Given the description of an element on the screen output the (x, y) to click on. 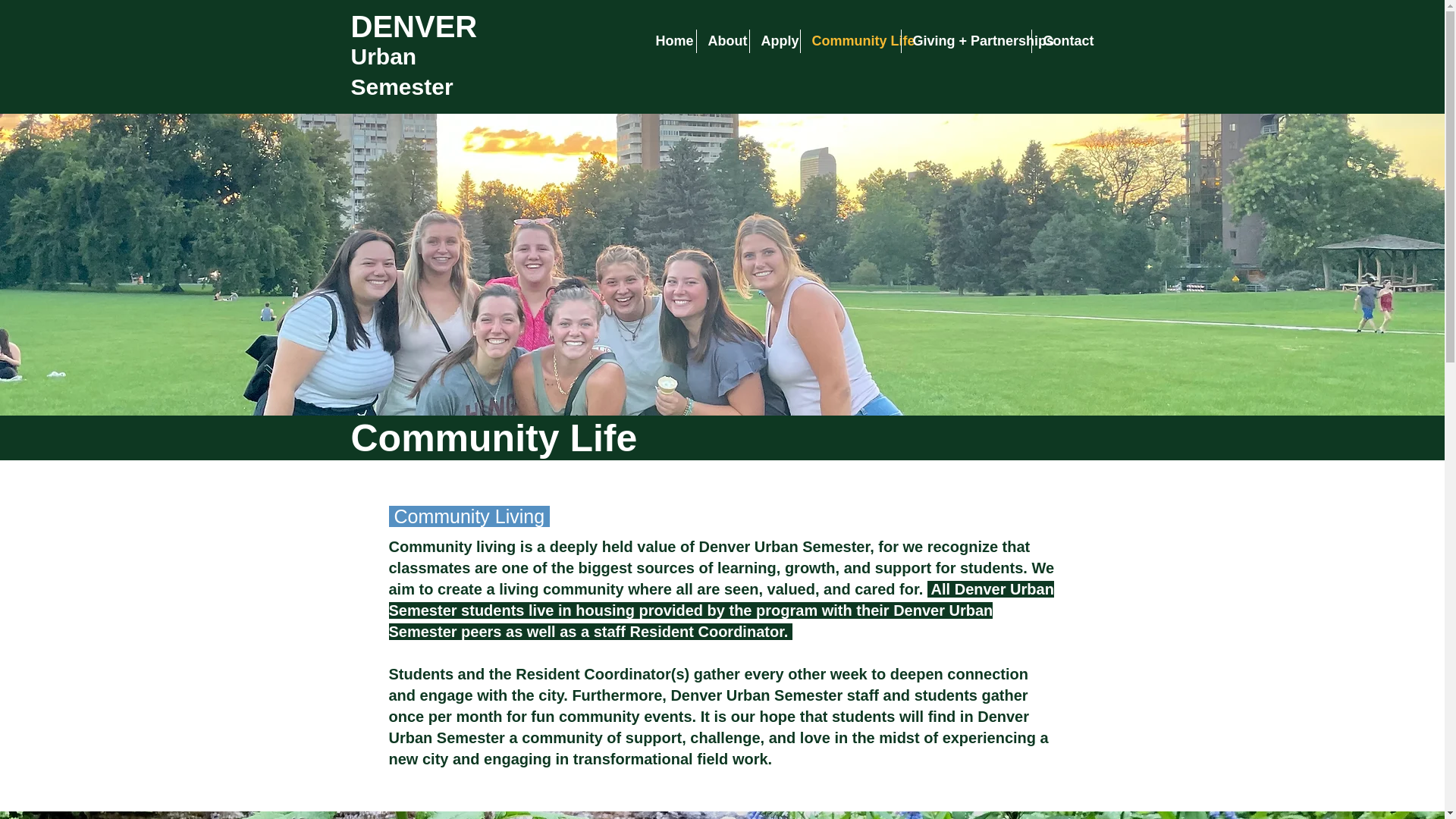
Contact (1061, 41)
Home (670, 41)
Community Life (850, 41)
Apply (774, 41)
About (721, 41)
